Given the description of an element on the screen output the (x, y) to click on. 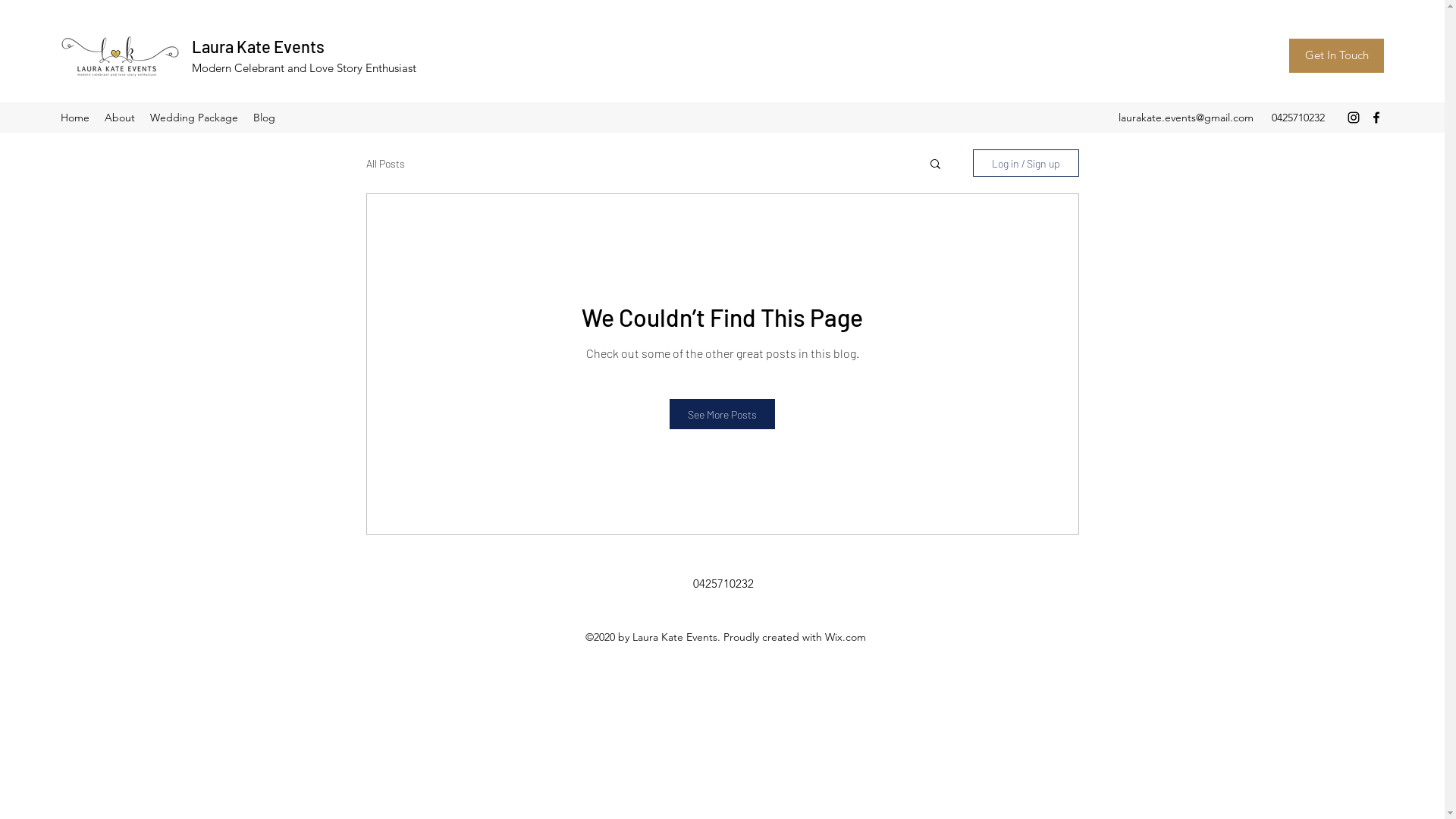
About Element type: text (119, 117)
Wedding Package Element type: text (193, 117)
laurakate.events@gmail.com Element type: text (1185, 117)
All Posts Element type: text (384, 162)
Home Element type: text (75, 117)
See More Posts Element type: text (722, 413)
Laura Kate Events Element type: text (257, 46)
Blog Element type: text (263, 117)
Log in / Sign up Element type: text (1025, 162)
